Given the description of an element on the screen output the (x, y) to click on. 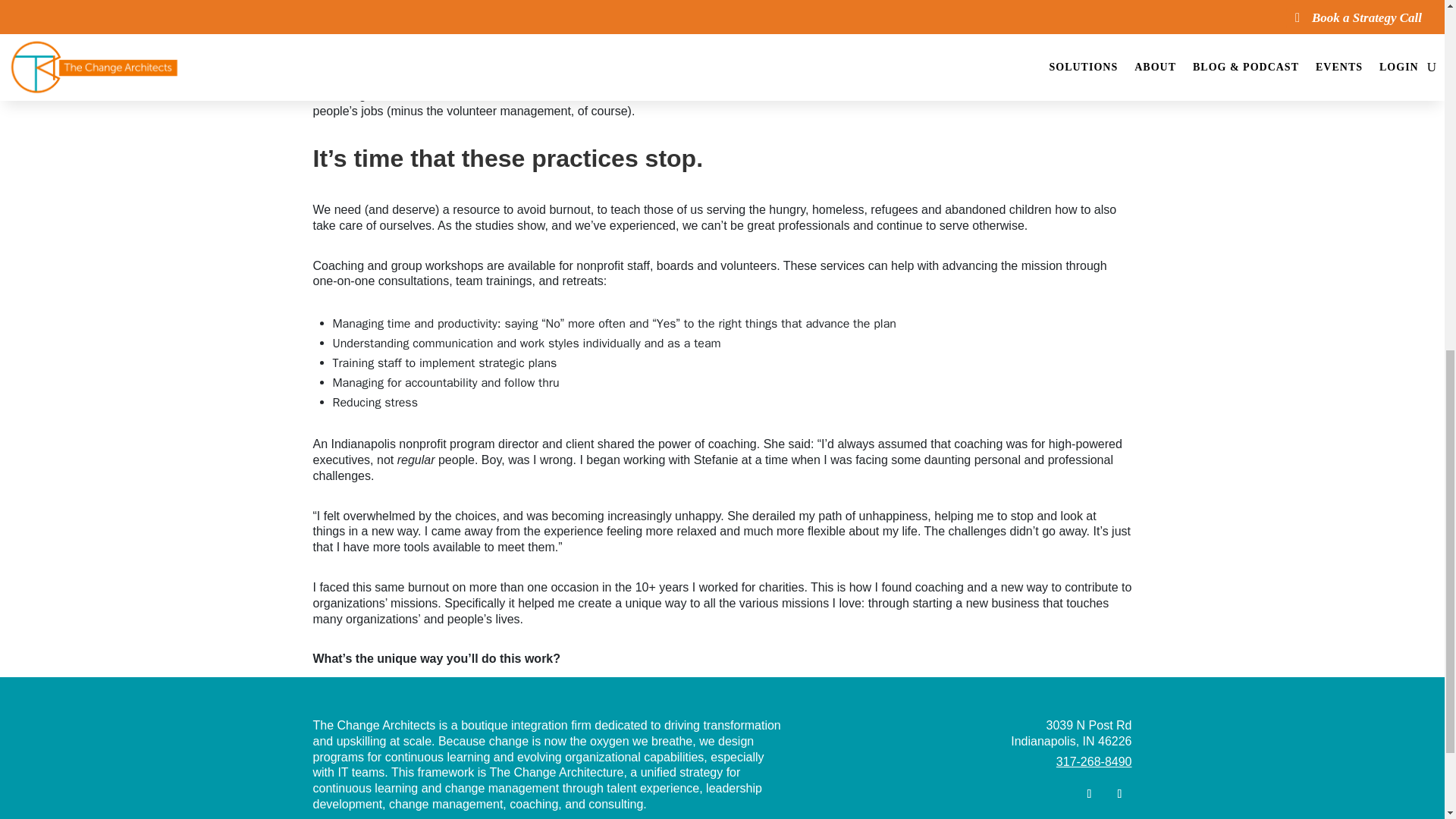
317-268-8490 (1094, 761)
Follow on LinkedIn (1118, 793)
Page 1 (981, 762)
Follow on Youtube (1088, 793)
Page 1 (981, 734)
Page 1 (549, 765)
